Given the description of an element on the screen output the (x, y) to click on. 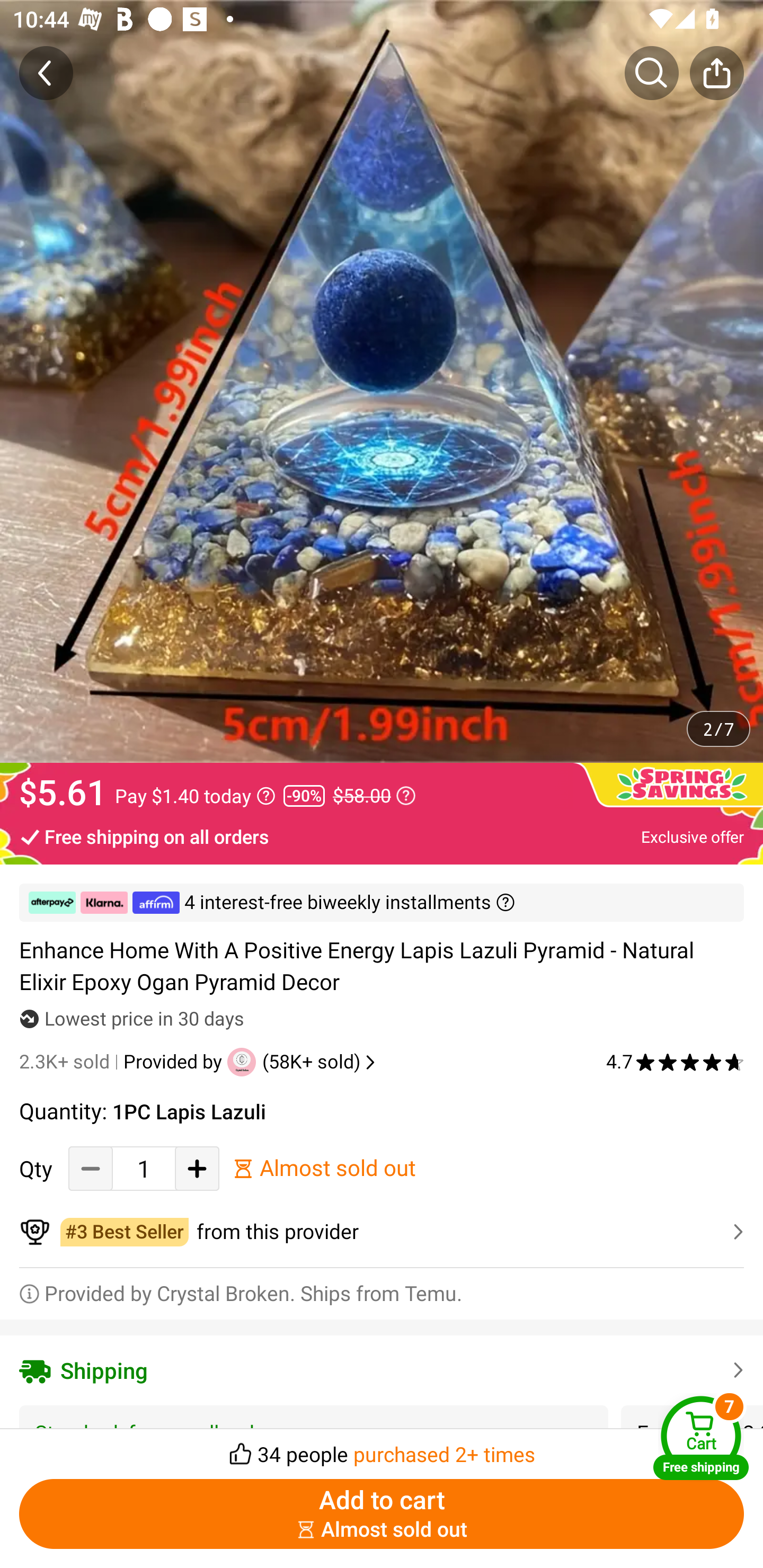
Back (46, 72)
Share (716, 72)
Pay $1.40 today   (195, 795)
Free shipping on all orders Exclusive offer (381, 836)
￼ ￼ ￼ 4 interest-free biweekly installments ￼ (381, 902)
2.3K+ sold Provided by  (123, 1061)
4.7 (674, 1061)
Decrease Quantity Button (90, 1168)
1 (143, 1168)
Add Quantity button (196, 1168)
￼￼from this provider (381, 1231)
Shipping (381, 1369)
Cart Free shipping Cart (701, 1437)
￼￼34 people purchased 2+ times (381, 1448)
Add to cart ￼￼Almost sold out (381, 1513)
